Given the description of an element on the screen output the (x, y) to click on. 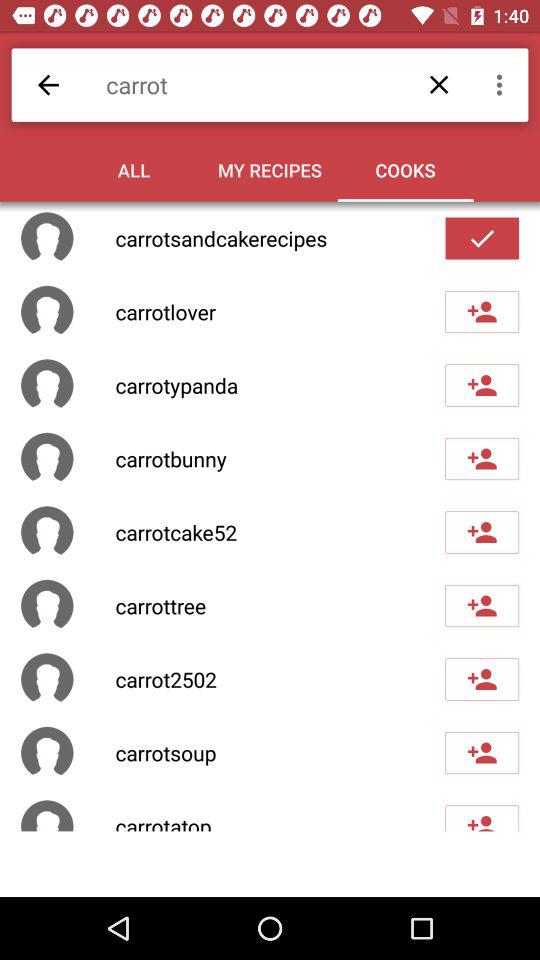
jump to the carrot (280, 84)
